Given the description of an element on the screen output the (x, y) to click on. 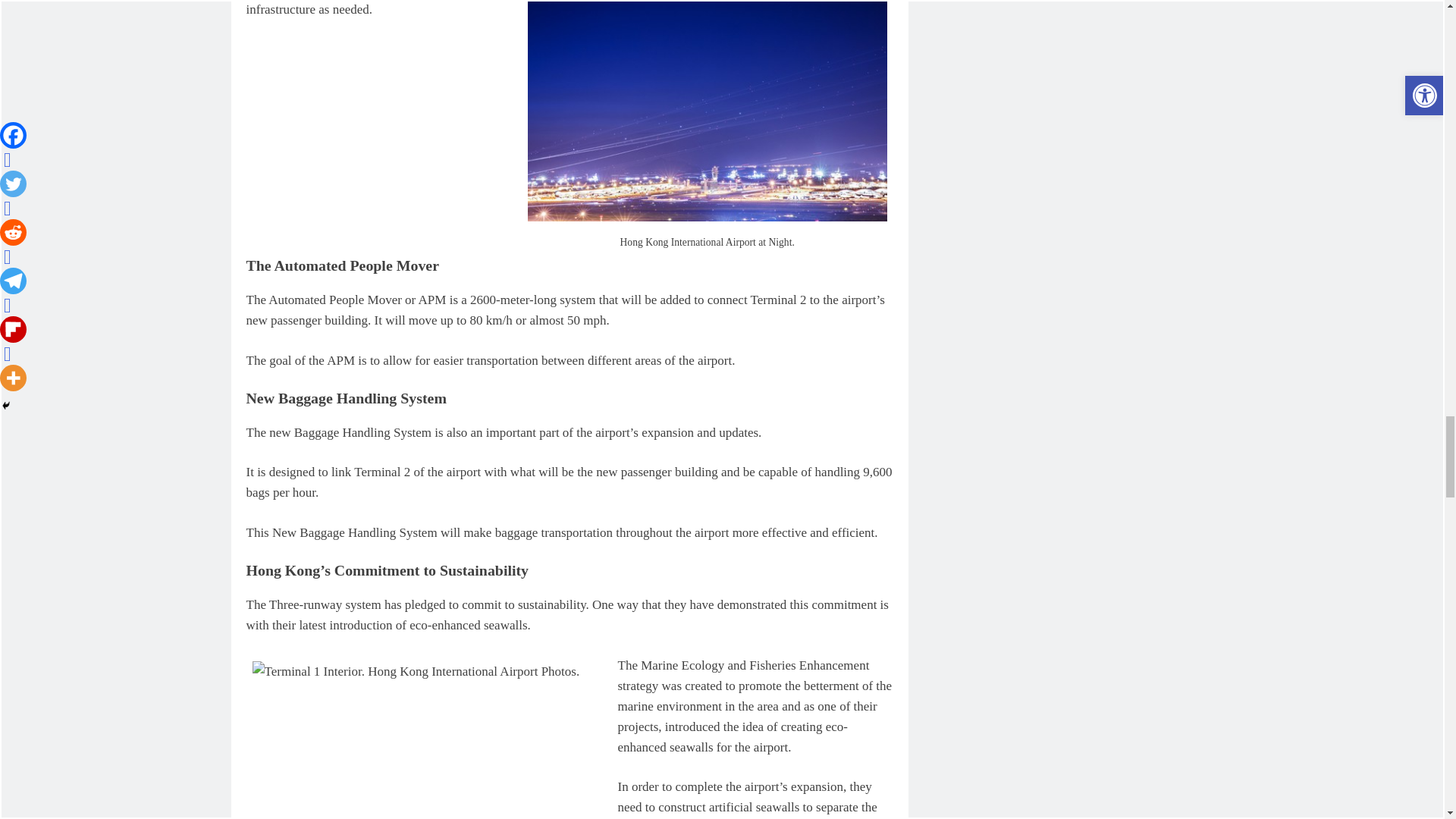
Terminal 1 Interior. Hong Kong International Airport Photos. (431, 737)
